Given the description of an element on the screen output the (x, y) to click on. 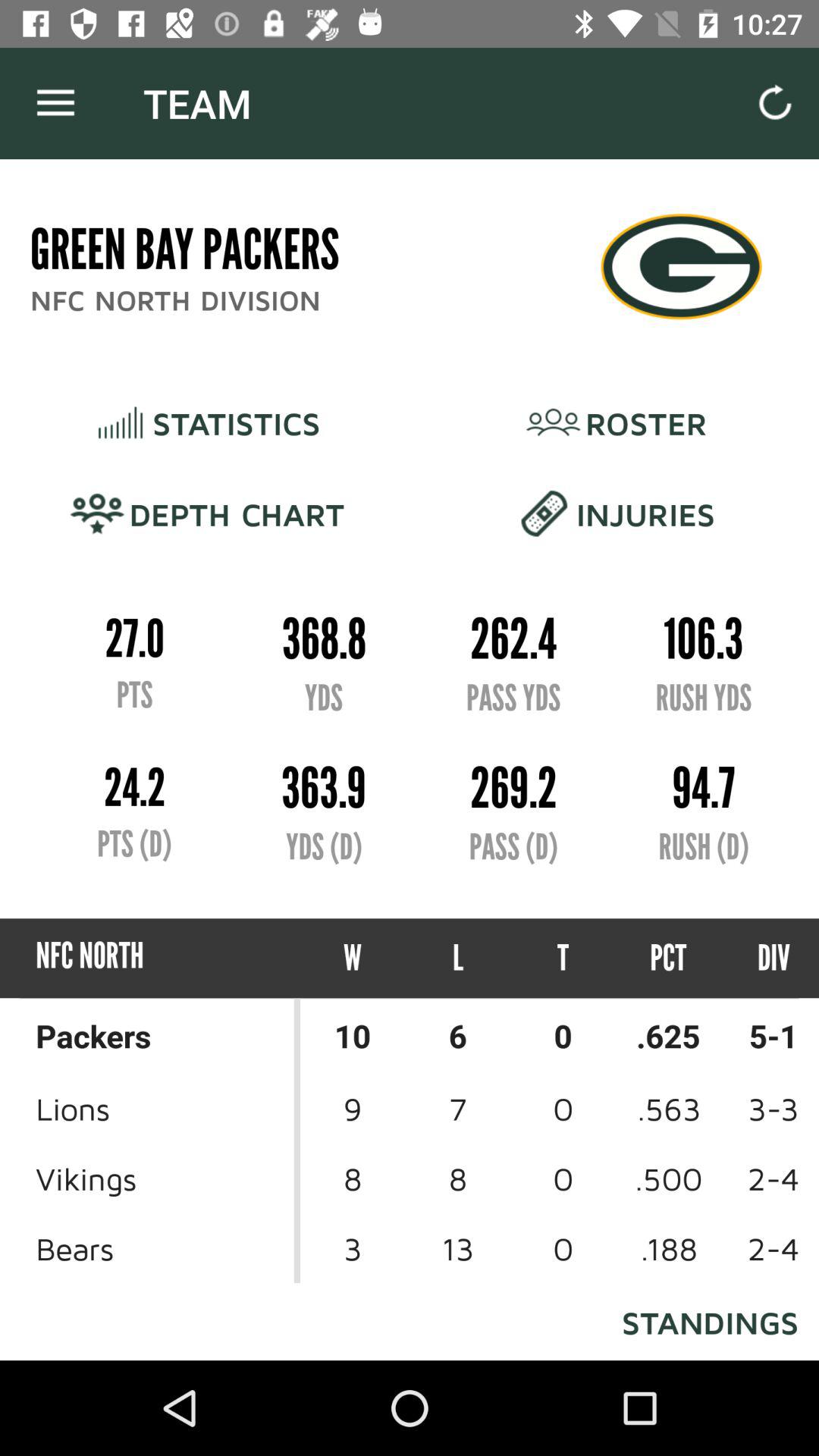
scroll to the pct item (668, 958)
